Given the description of an element on the screen output the (x, y) to click on. 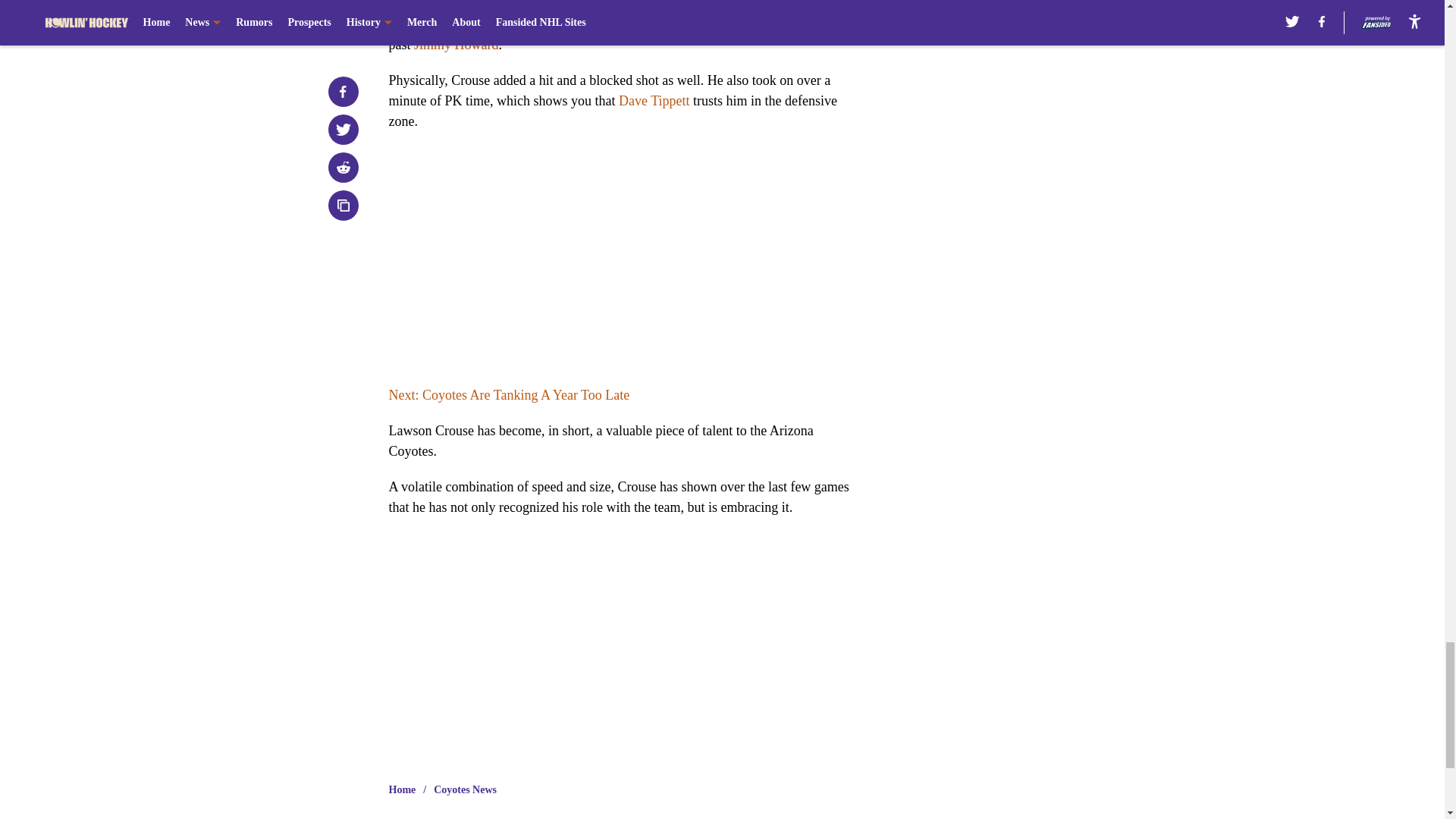
Jimmy Howard (456, 44)
Next: Coyotes Are Tanking A Year Too Late (508, 394)
Radim Vrbata (796, 5)
Dave Tippett (654, 100)
Home (401, 789)
Coyotes News (464, 789)
